Given the description of an element on the screen output the (x, y) to click on. 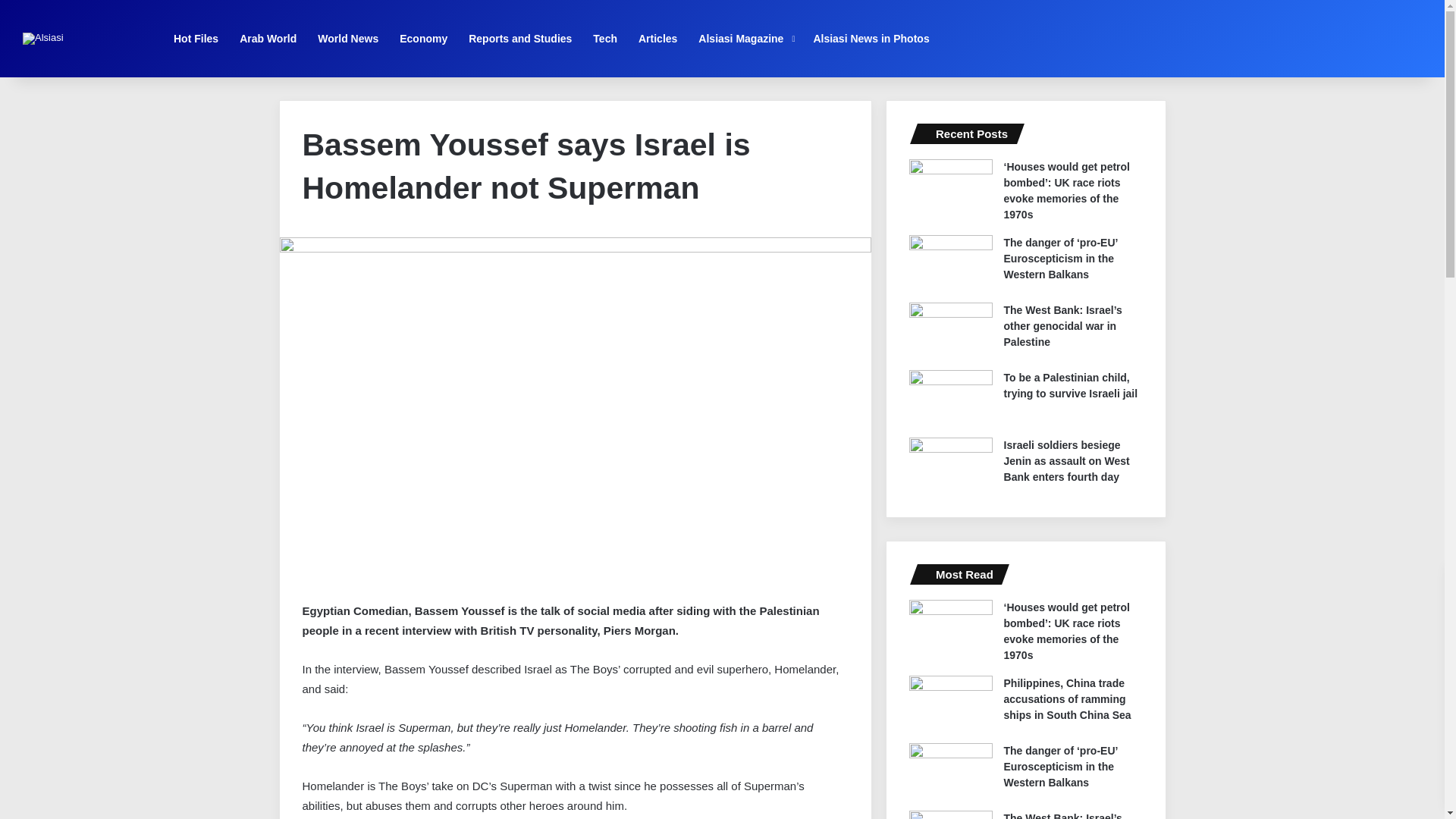
Arab World (267, 38)
Economy (423, 38)
Reports and Studies (520, 38)
World News (347, 38)
Alsiasi News in Photos (870, 38)
Alsiasi (43, 38)
Alsiasi Magazine (744, 38)
